Given the description of an element on the screen output the (x, y) to click on. 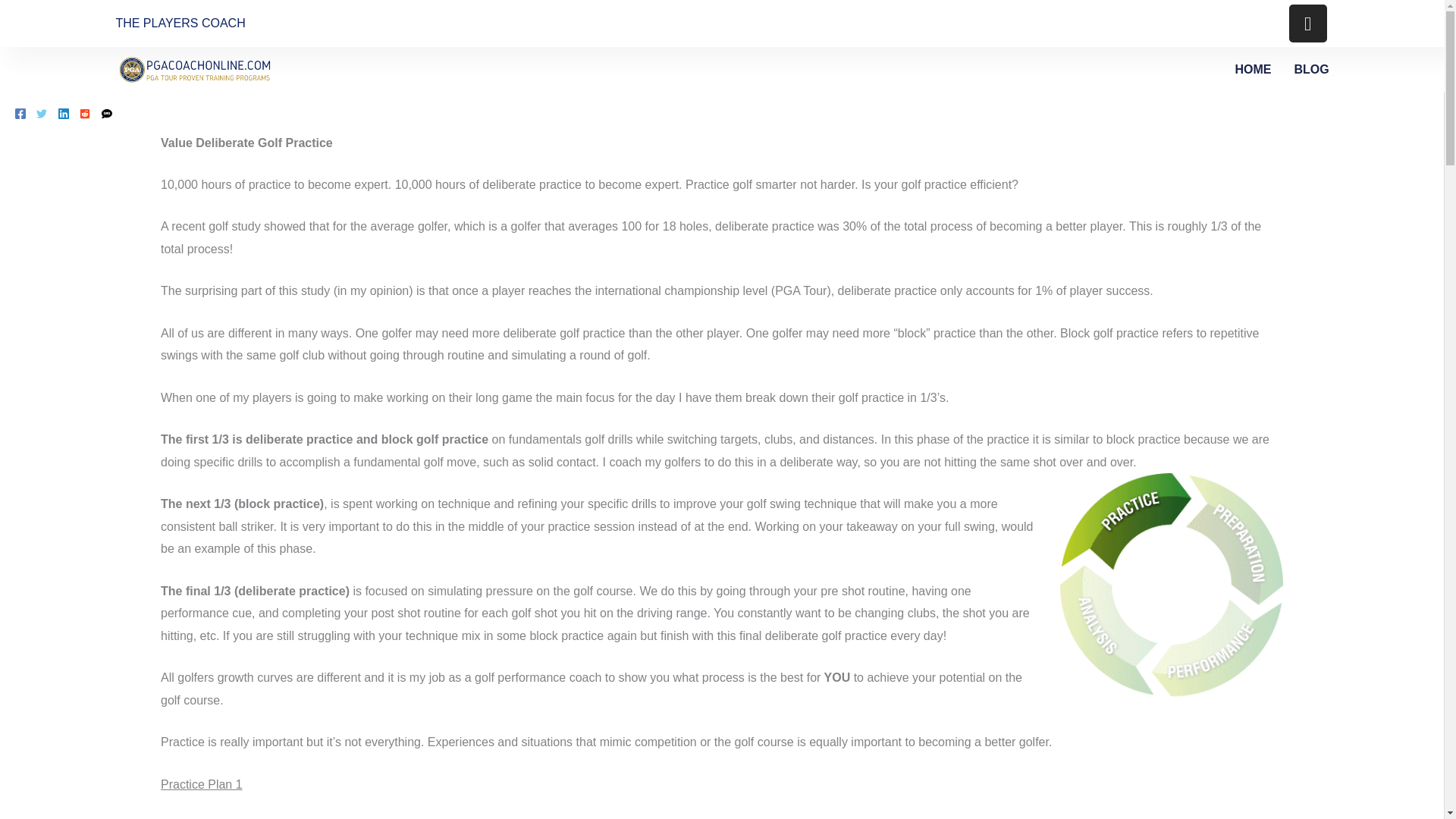
BLOG (1310, 69)
HOME (1252, 69)
Instagram (1307, 23)
